Given the description of an element on the screen output the (x, y) to click on. 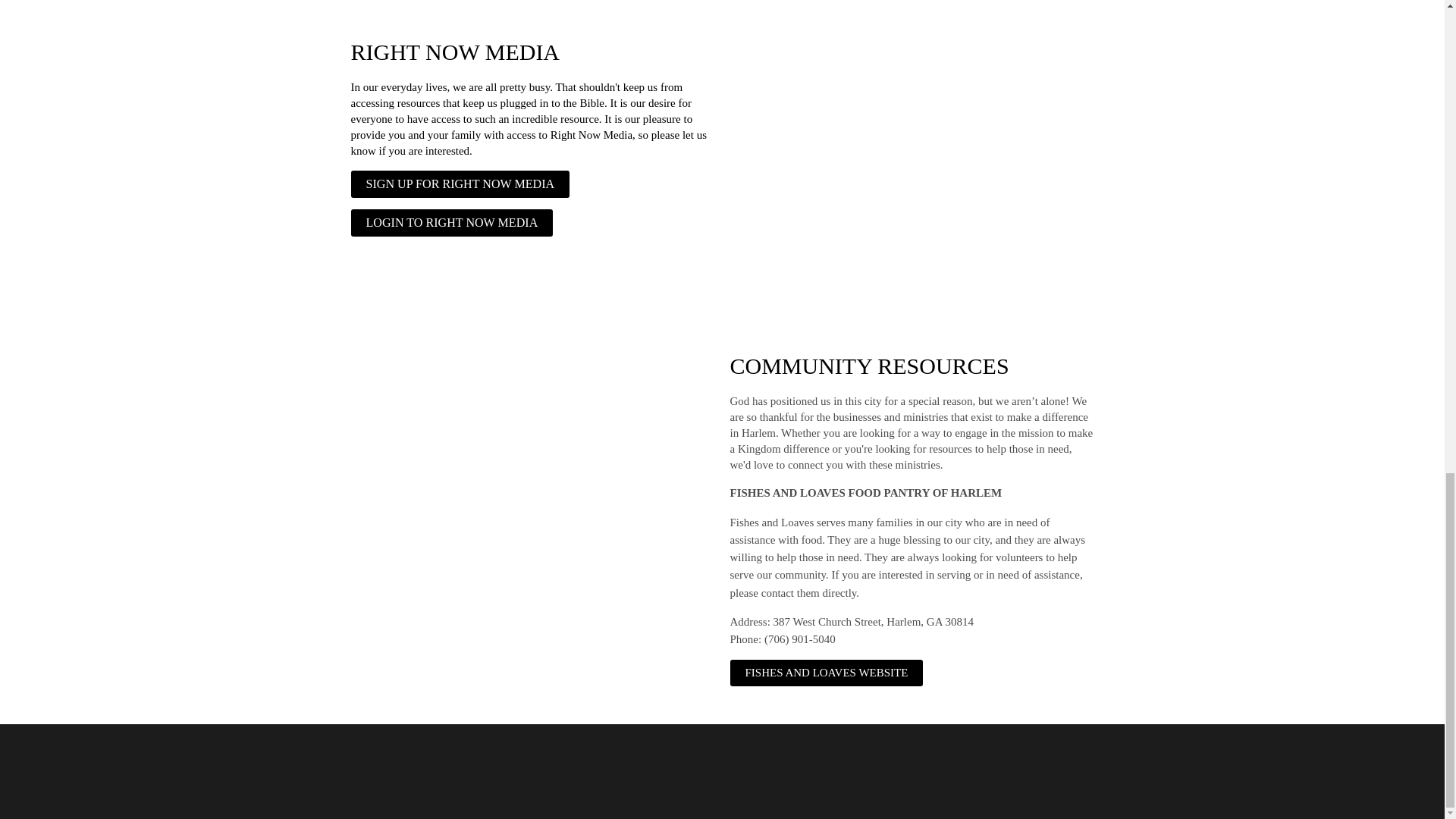
LOGIN TO RIGHT NOW MEDIA (451, 222)
FISHES AND LOAVES WEBSITE (826, 673)
SIGN UP FOR RIGHT NOW MEDIA (459, 184)
